Given the description of an element on the screen output the (x, y) to click on. 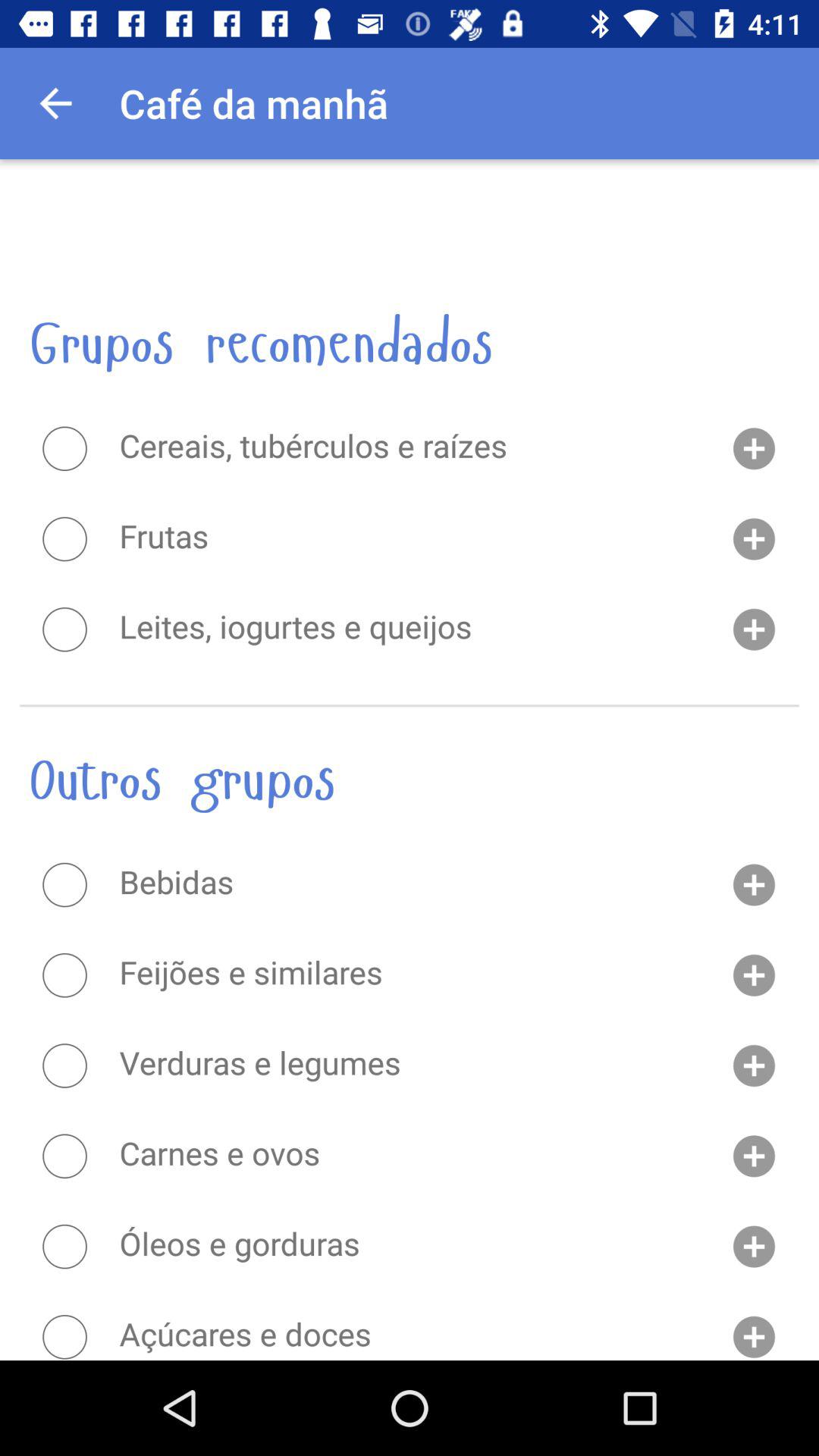
click group (64, 629)
